Given the description of an element on the screen output the (x, y) to click on. 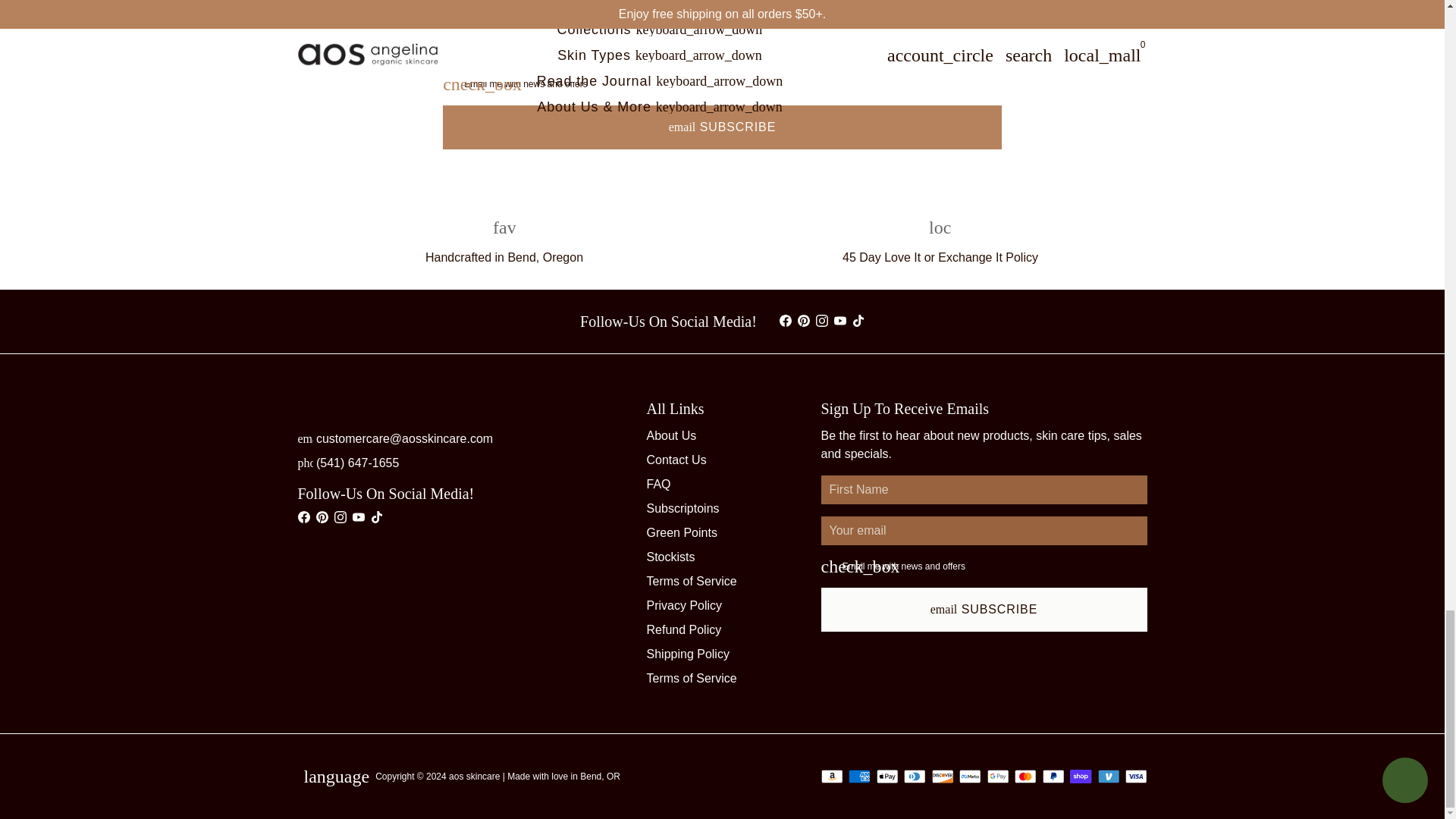
Google Pay (998, 775)
Diners Club (915, 775)
Apple Pay (887, 775)
Amazon (831, 775)
Discover (941, 775)
Meta Pay (970, 775)
American Express (859, 775)
